Given the description of an element on the screen output the (x, y) to click on. 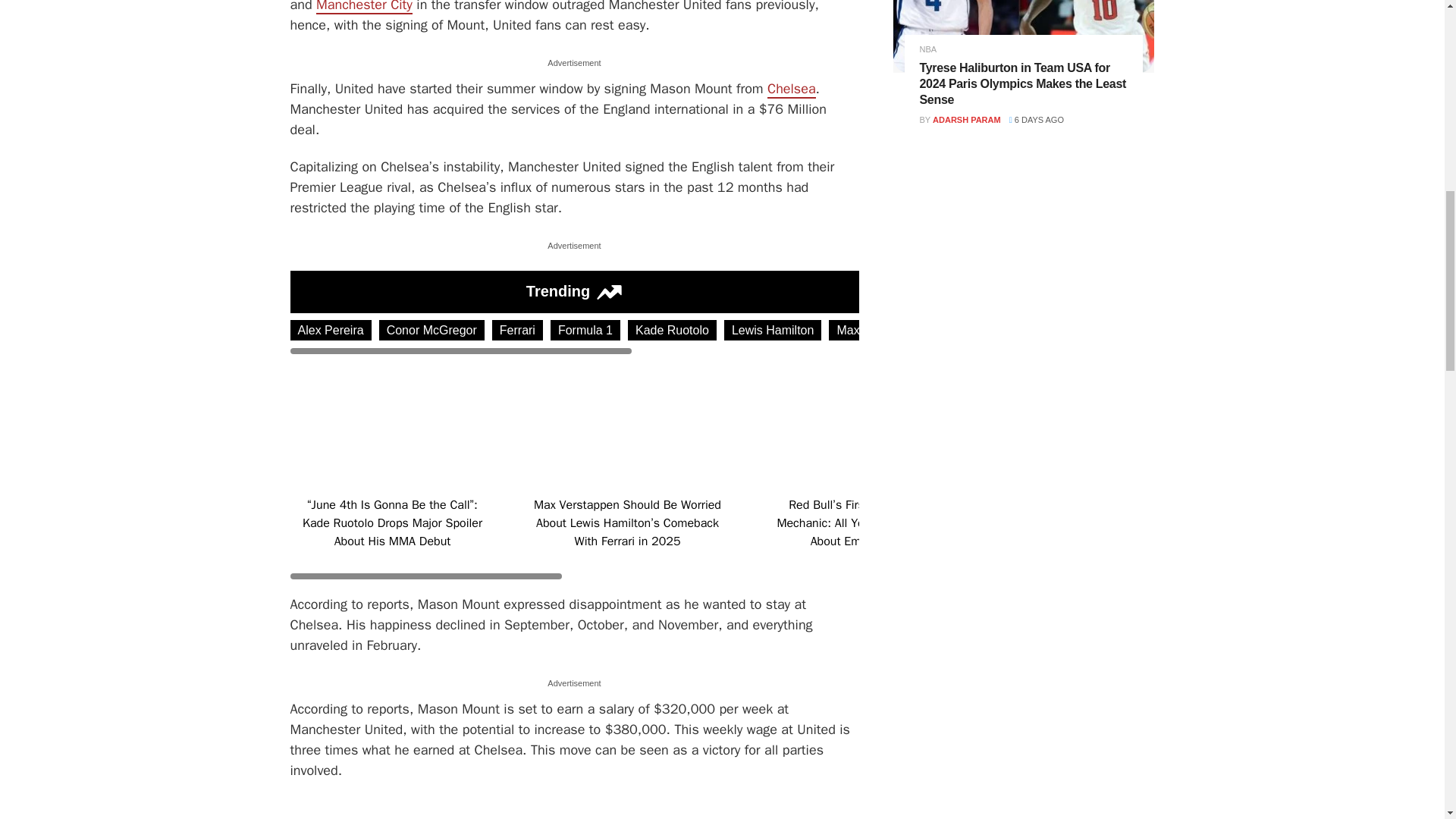
Mercedes (973, 330)
Manchester City (363, 7)
Chelsea (791, 89)
Formula 1 (585, 330)
Conor McGregor (431, 330)
Kade Ruotolo (671, 330)
Lewis Hamilton (772, 330)
Max Verstappen (879, 330)
Ferrari (517, 330)
Alex Pereira (330, 330)
